Given the description of an element on the screen output the (x, y) to click on. 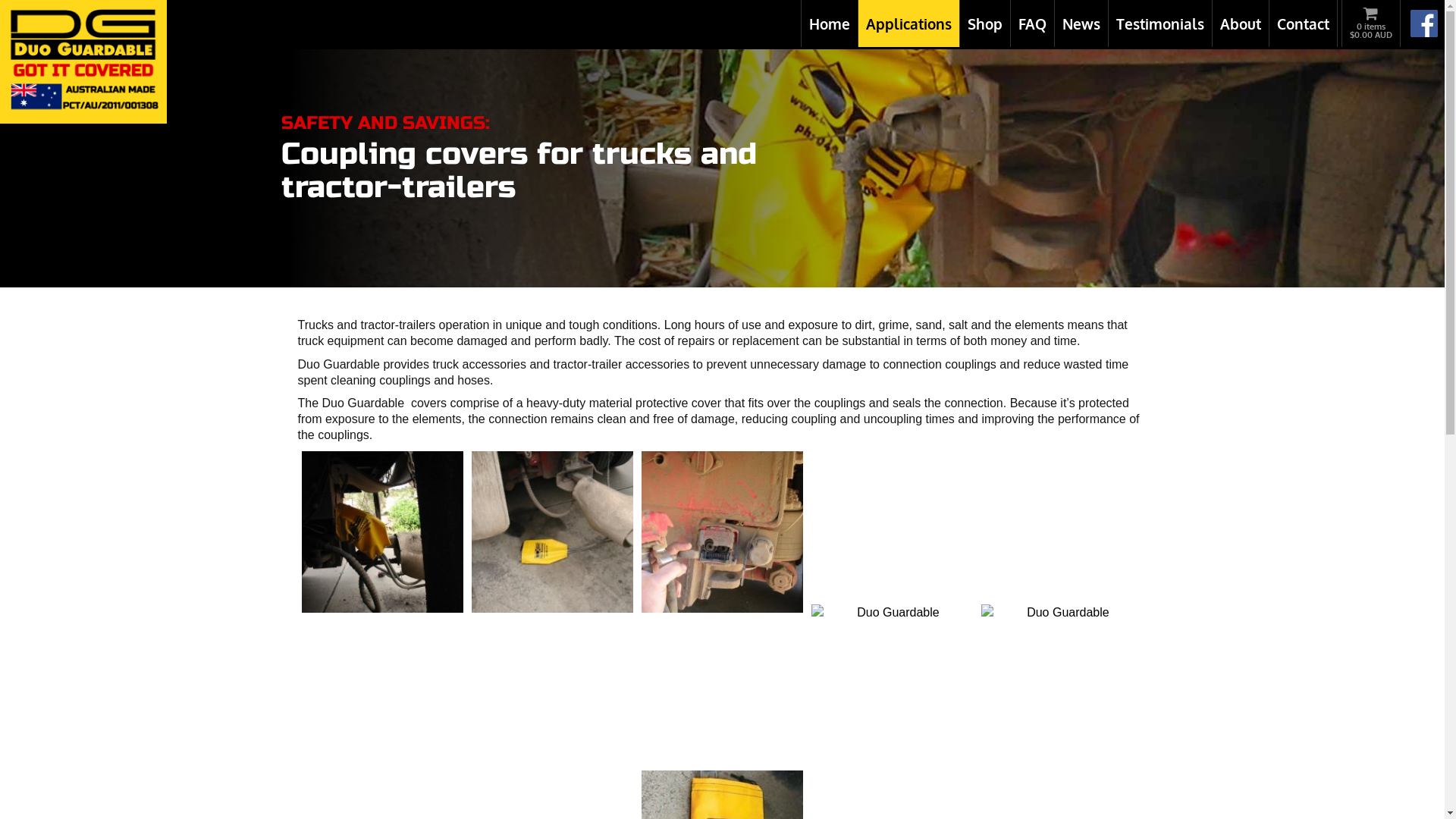
Shop Element type: text (985, 23)
About Element type: text (1240, 23)
FAQ Element type: text (1032, 23)
Home Element type: text (829, 23)
Contact Element type: text (1302, 23)
News Element type: text (1080, 23)
Applications Element type: text (908, 23)
0 items
$0.00 AUD Element type: text (1370, 19)
Testimonials Element type: text (1159, 23)
